Given the description of an element on the screen output the (x, y) to click on. 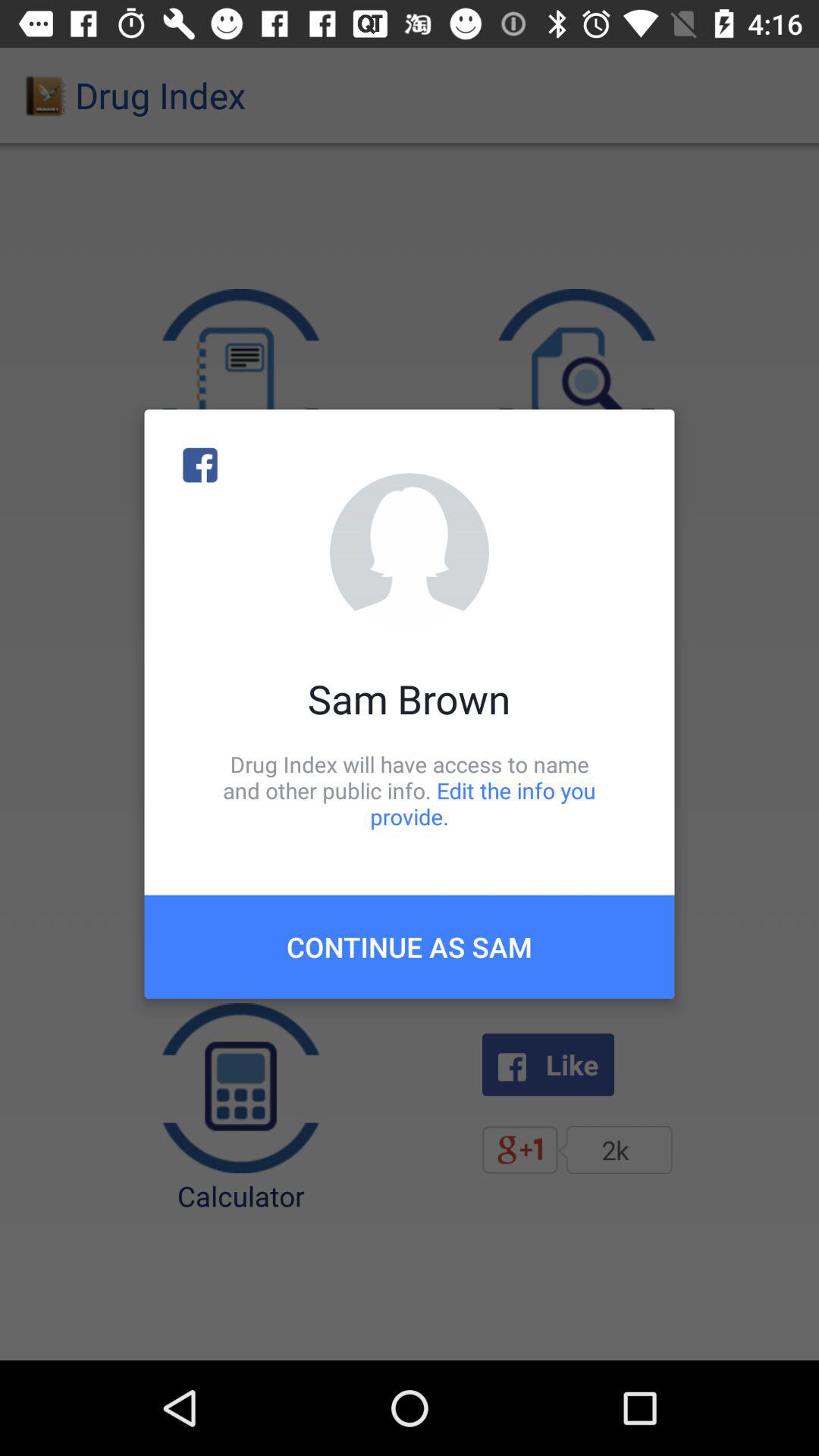
press icon above continue as sam (409, 790)
